Given the description of an element on the screen output the (x, y) to click on. 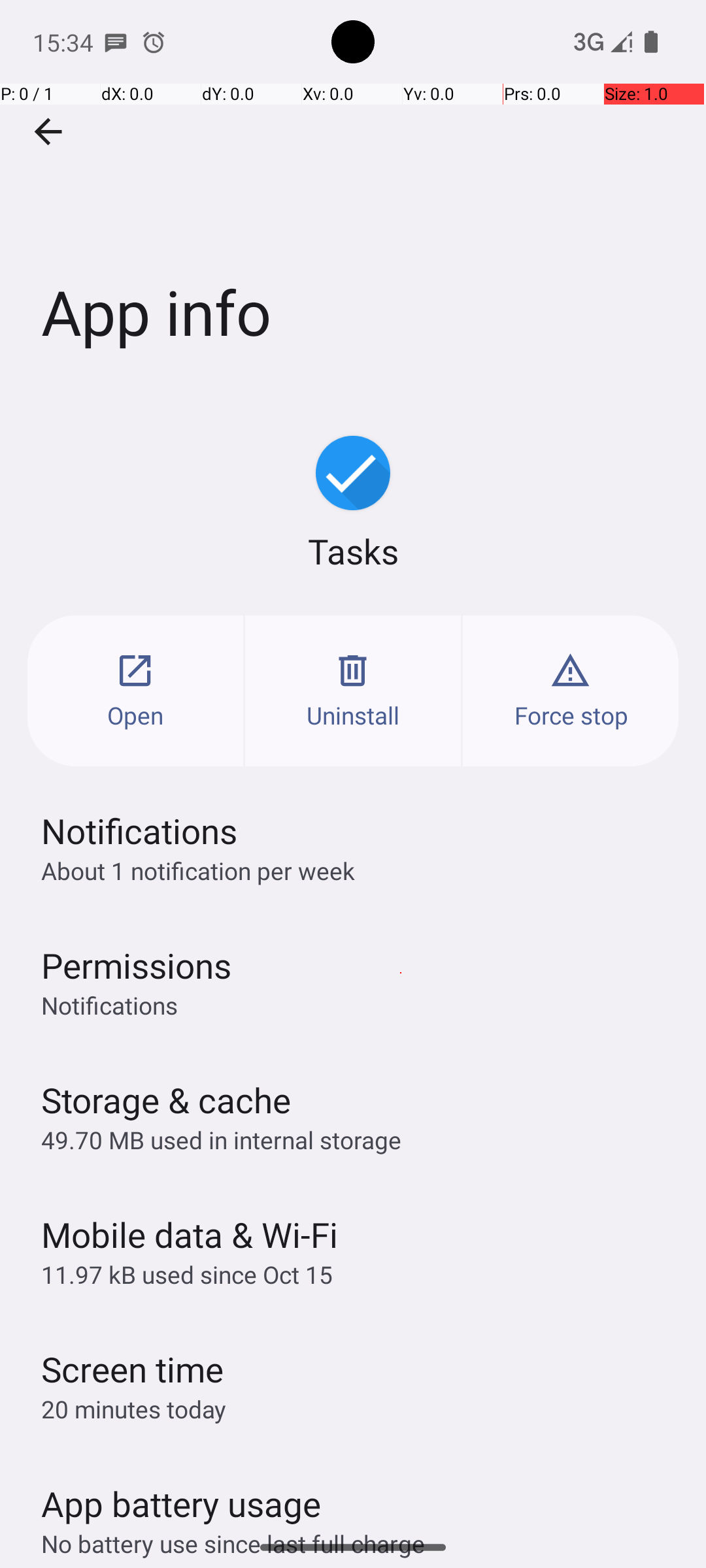
About 1 notification per week Element type: android.widget.TextView (197, 870)
49.70 MB used in internal storage Element type: android.widget.TextView (221, 1139)
11.97 kB used since Oct 15 Element type: android.widget.TextView (186, 1273)
20 minutes today Element type: android.widget.TextView (133, 1408)
